Given the description of an element on the screen output the (x, y) to click on. 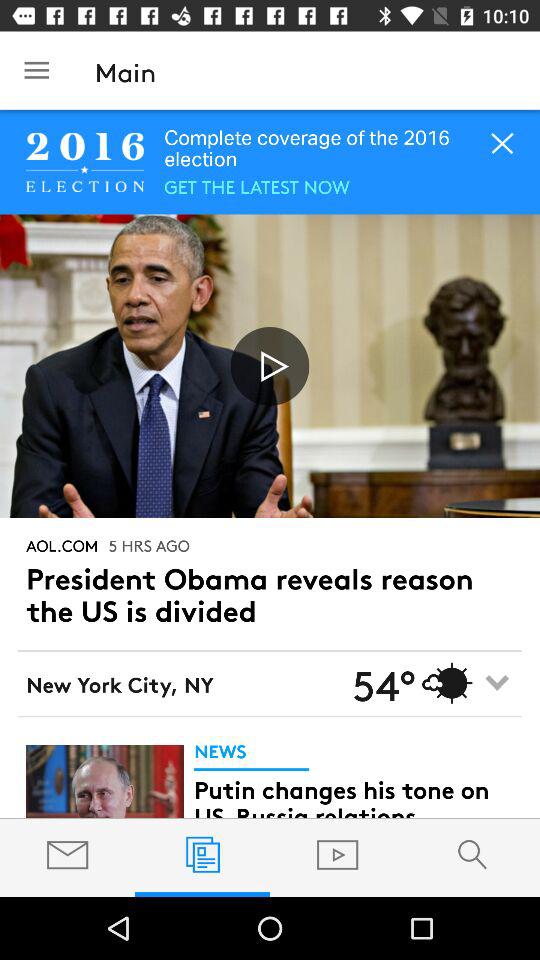
play the video (270, 366)
